Given the description of an element on the screen output the (x, y) to click on. 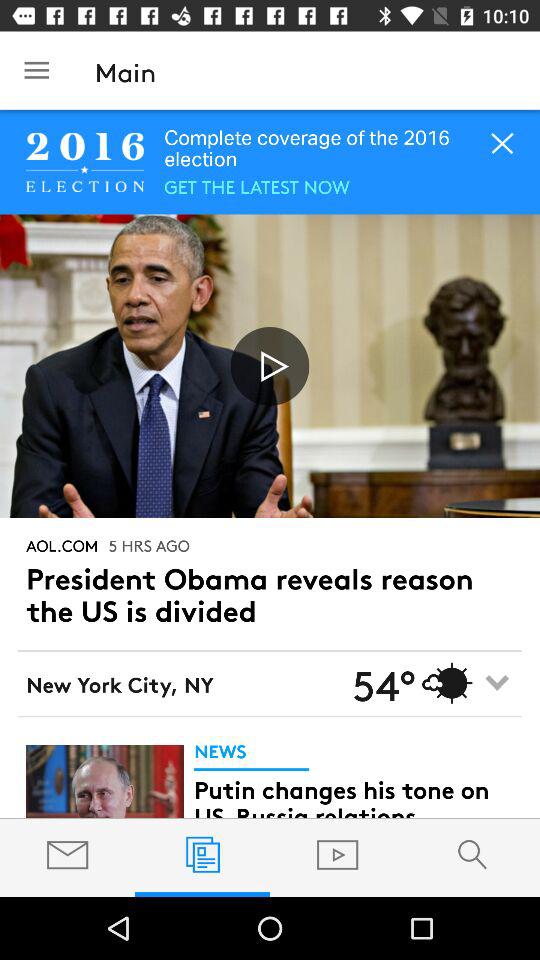
play the video (270, 366)
